Given the description of an element on the screen output the (x, y) to click on. 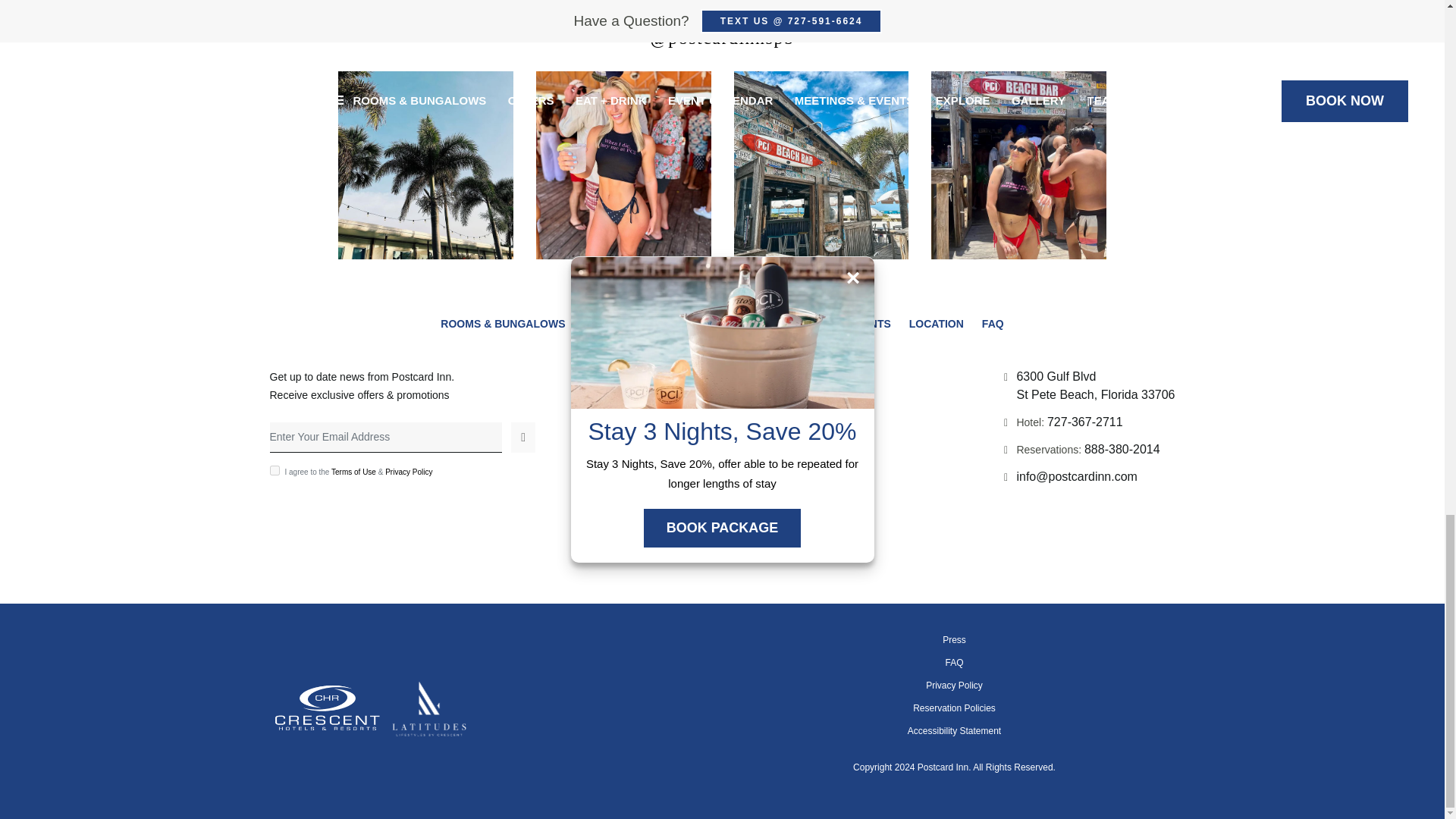
Crescent Hotels (328, 732)
Agree (274, 470)
Follow Facebook (700, 545)
follow instagram (742, 545)
Latitudes (429, 732)
